Given the description of an element on the screen output the (x, y) to click on. 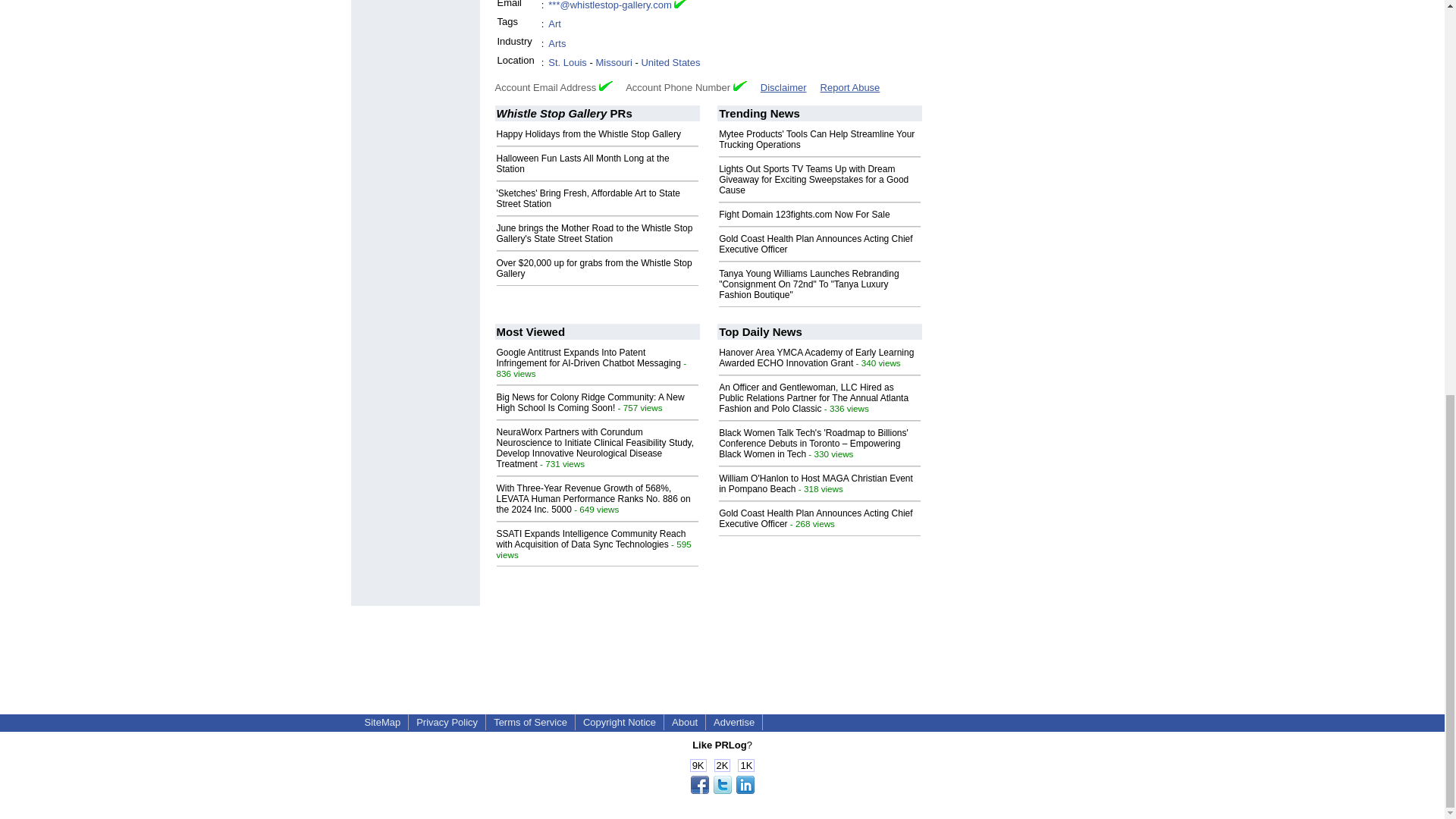
Verified (605, 85)
Verified (739, 85)
Email Verified (680, 6)
Advertisement (721, 640)
Share this page! (722, 790)
